Given the description of an element on the screen output the (x, y) to click on. 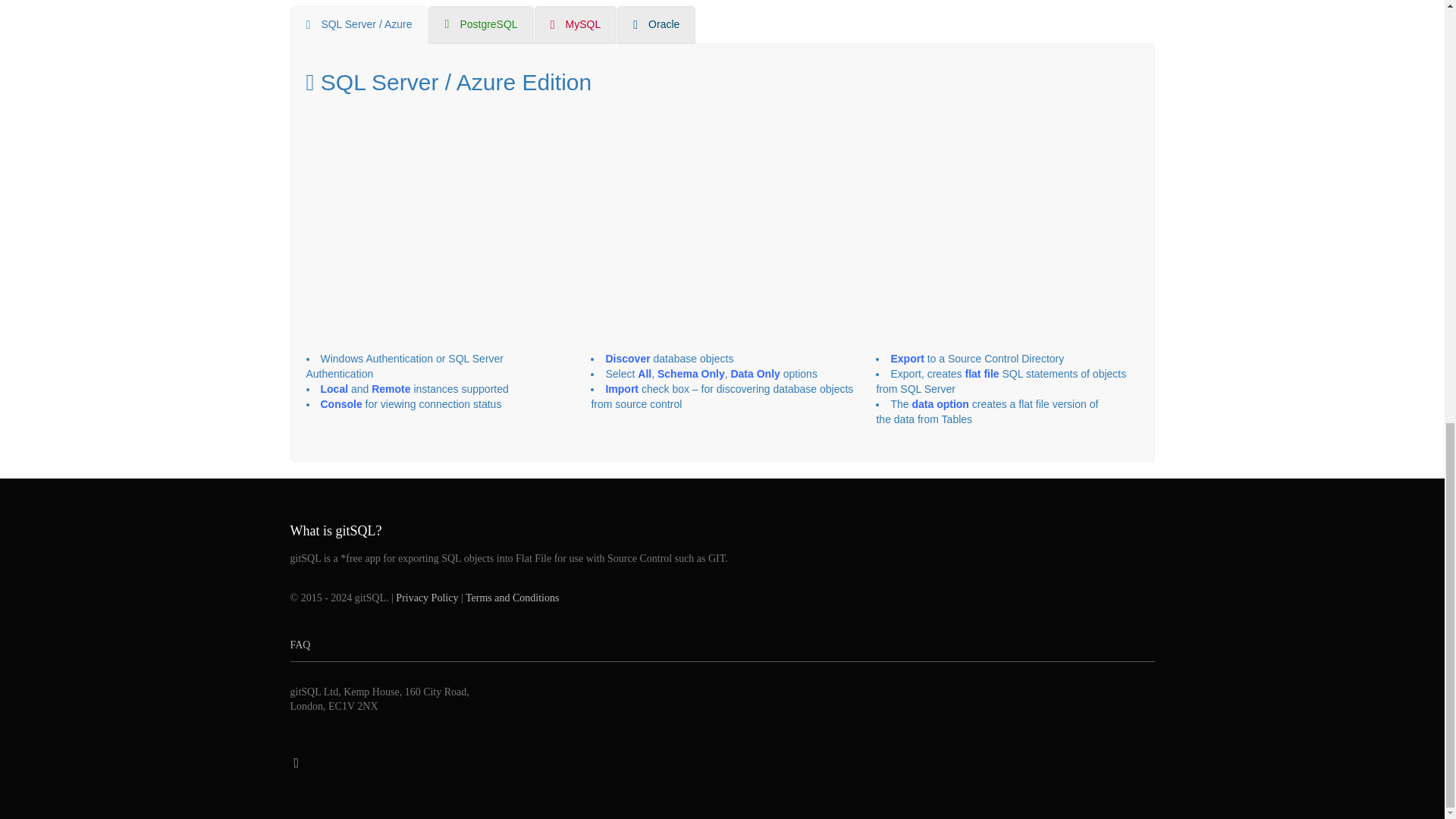
FAQ (721, 645)
Oracle (656, 24)
Terms and Conditions (512, 597)
PostgreSQL (480, 24)
Privacy Policy (427, 597)
MySQL (575, 24)
